Given the description of an element on the screen output the (x, y) to click on. 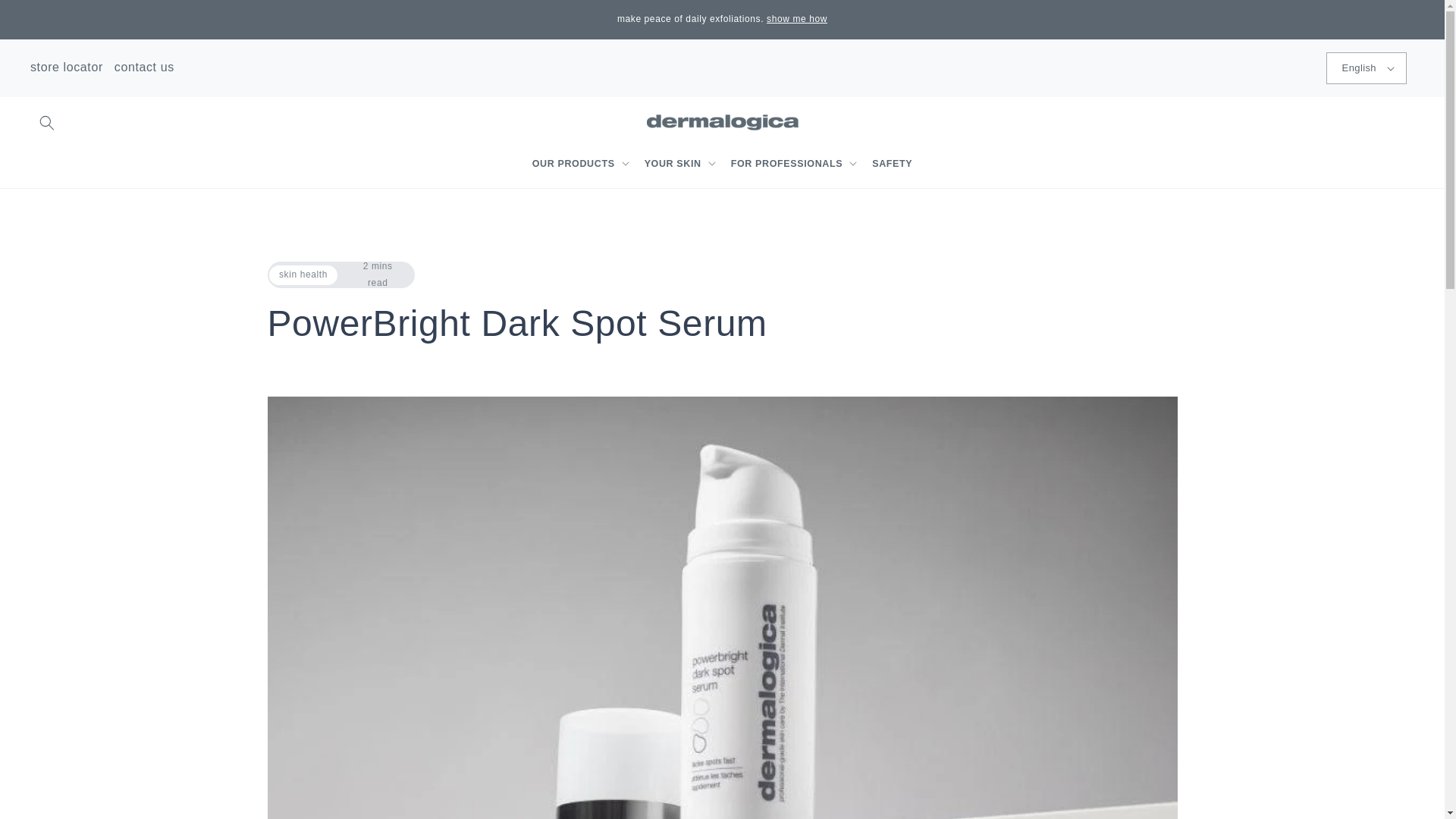
store locator (66, 67)
show me how (797, 18)
skip to content (45, 17)
English (1366, 68)
contact us (144, 67)
